Given the description of an element on the screen output the (x, y) to click on. 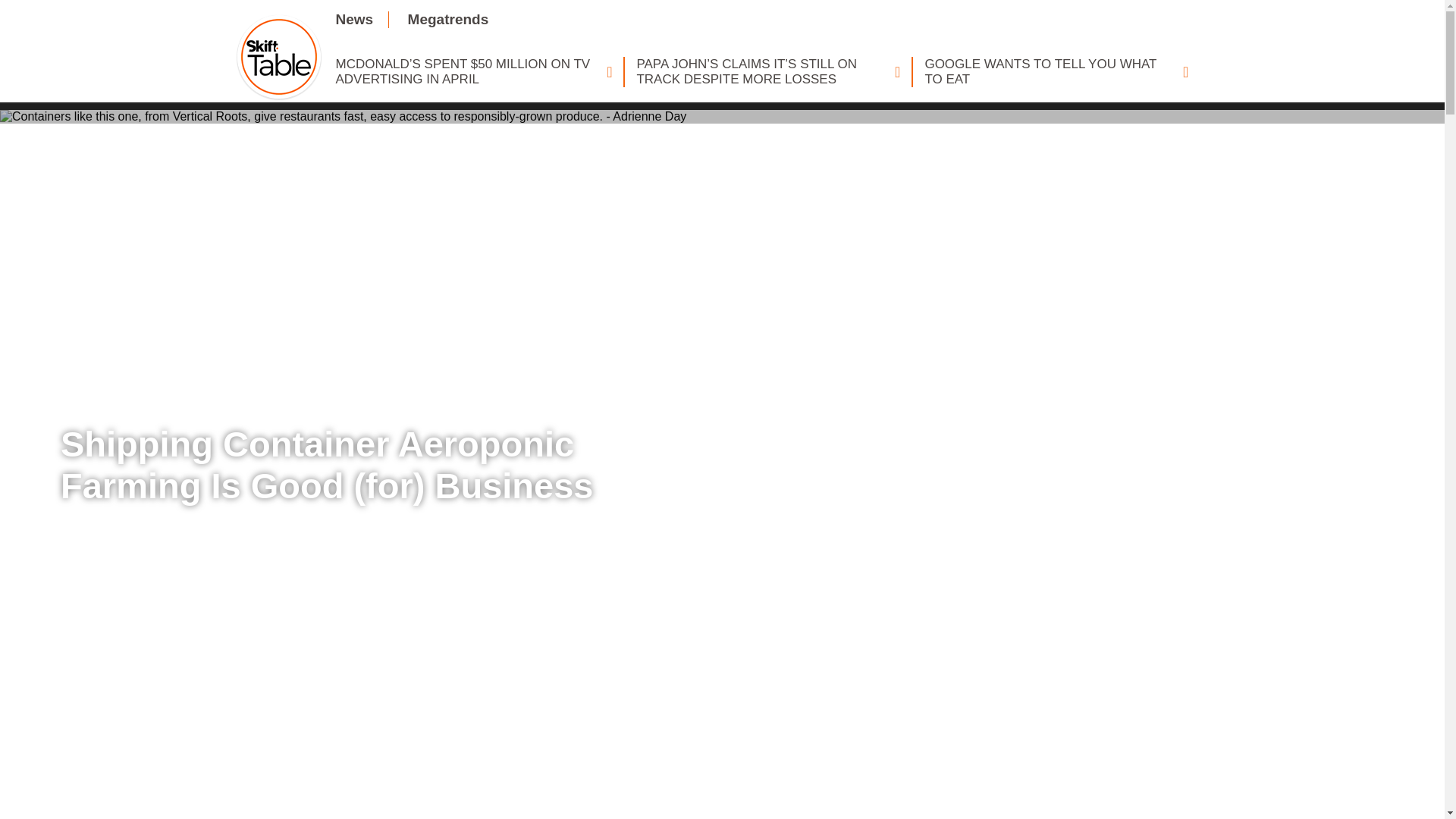
GOOGLE WANTS TO TELL YOU WHAT TO EAT (1055, 71)
FOOD (96, 397)
News (353, 19)
Megatrends (448, 19)
